Given the description of an element on the screen output the (x, y) to click on. 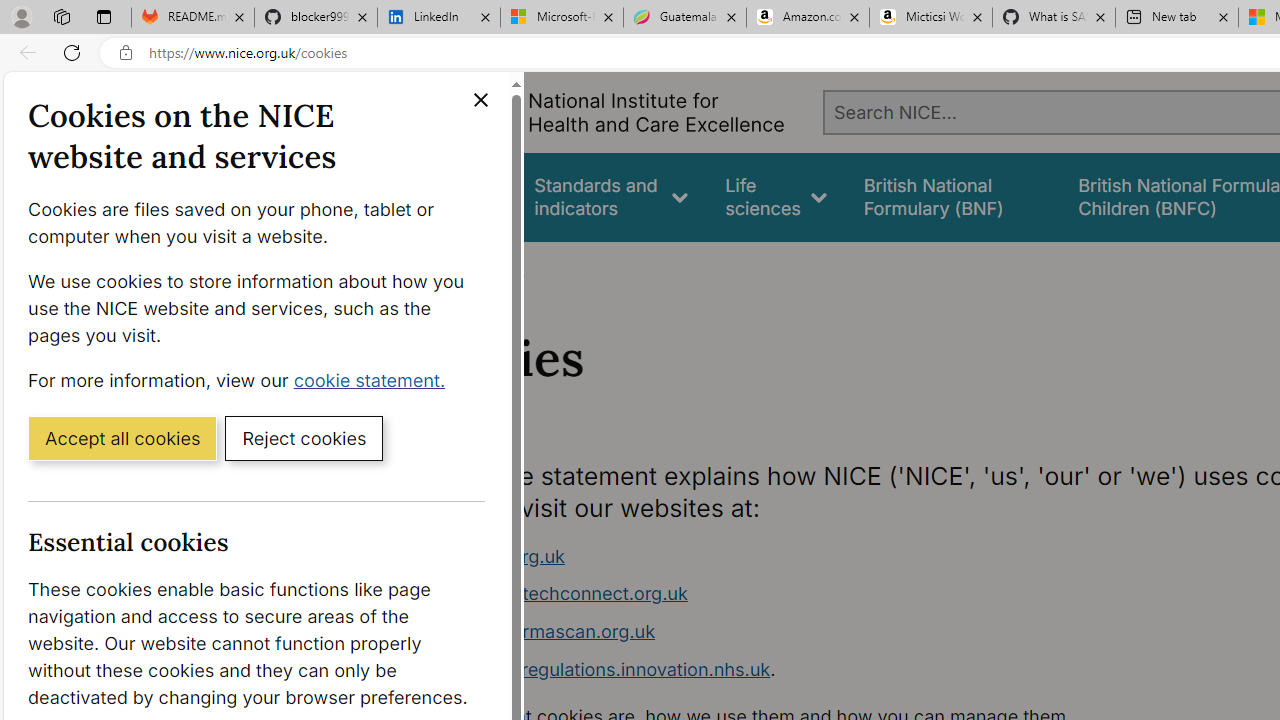
Life sciences (776, 196)
Accept all cookies (122, 437)
www.ukpharmascan.org.uk (538, 631)
Home> (433, 268)
cookie statement. (Opens in a new window) (373, 379)
www.healthtechconnect.org.uk (554, 593)
